Given the description of an element on the screen output the (x, y) to click on. 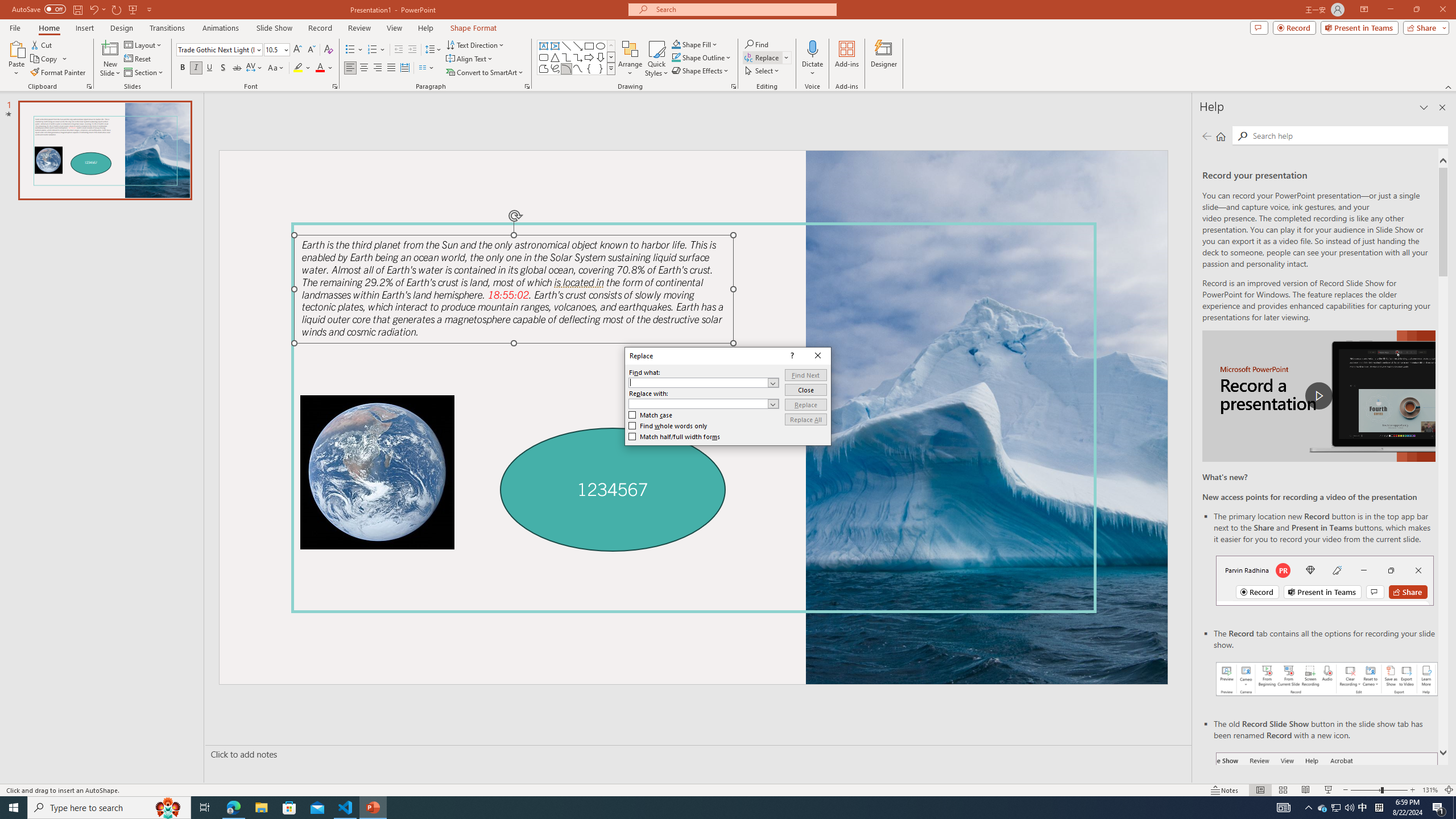
Replace with (697, 403)
